Given the description of an element on the screen output the (x, y) to click on. 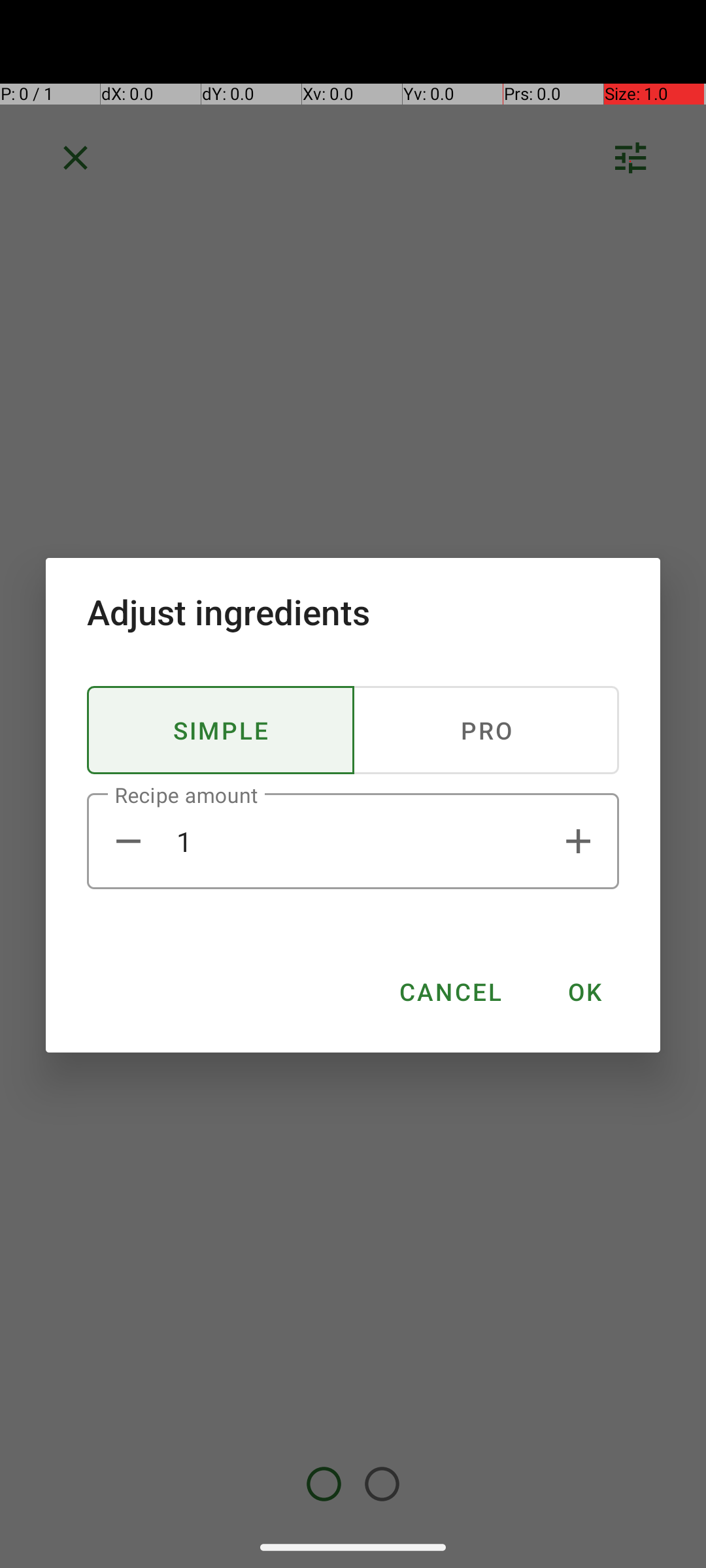
Adjust ingredients Element type: android.widget.TextView (352, 611)
SIMPLE Element type: android.widget.CompoundButton (220, 730)
PRO Element type: android.widget.CompoundButton (485, 730)
